Given the description of an element on the screen output the (x, y) to click on. 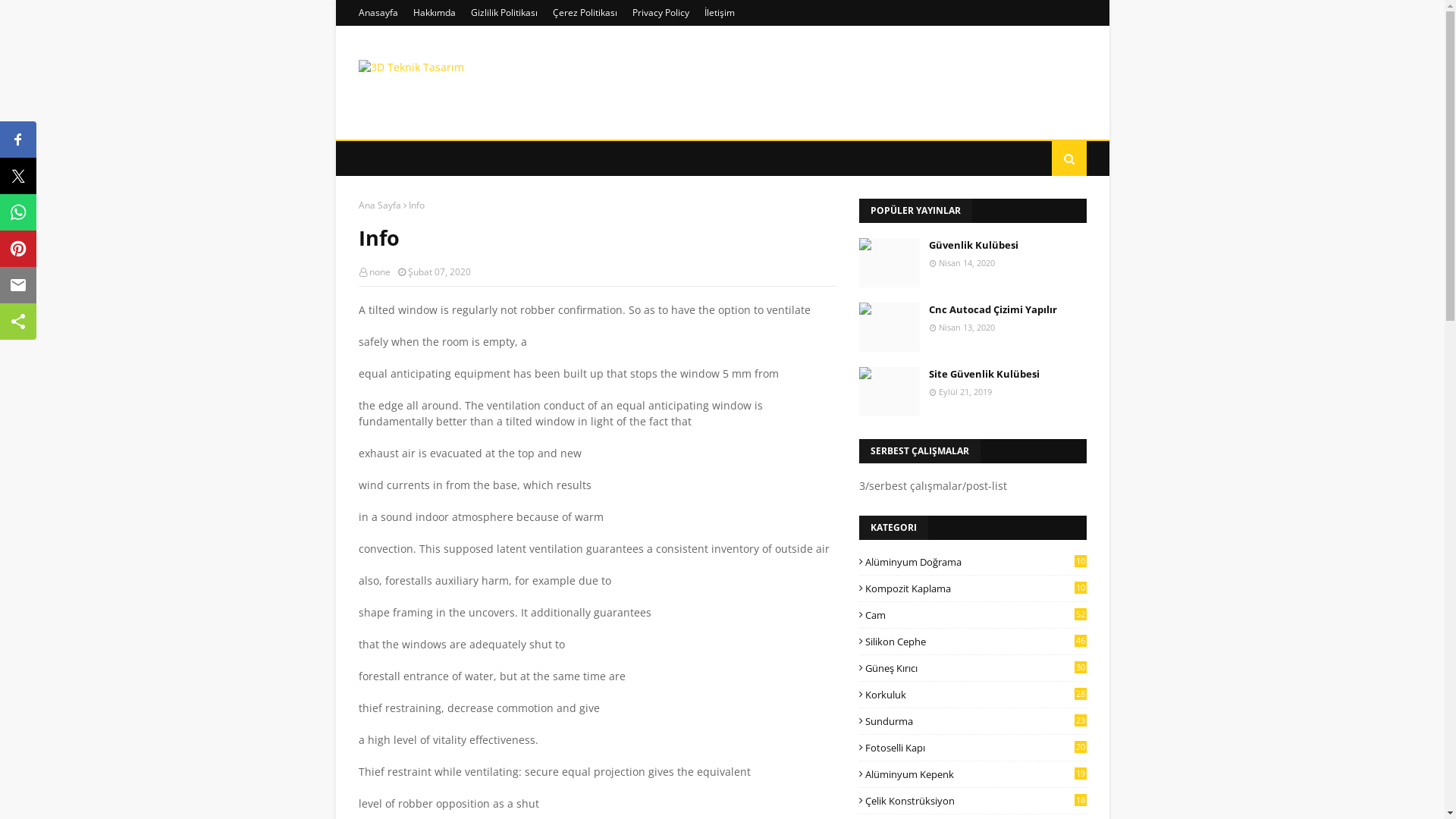
none Element type: text (378, 271)
Ana Sayfa Element type: text (378, 204)
Privacy Policy Element type: text (659, 12)
Cam
52 Element type: text (971, 614)
Korkuluk
28 Element type: text (971, 694)
Sundurma
23 Element type: text (971, 721)
Anasayfa Element type: text (379, 12)
Kompozit Kaplama
105 Element type: text (971, 588)
Silikon Cephe
46 Element type: text (971, 641)
